Given the description of an element on the screen output the (x, y) to click on. 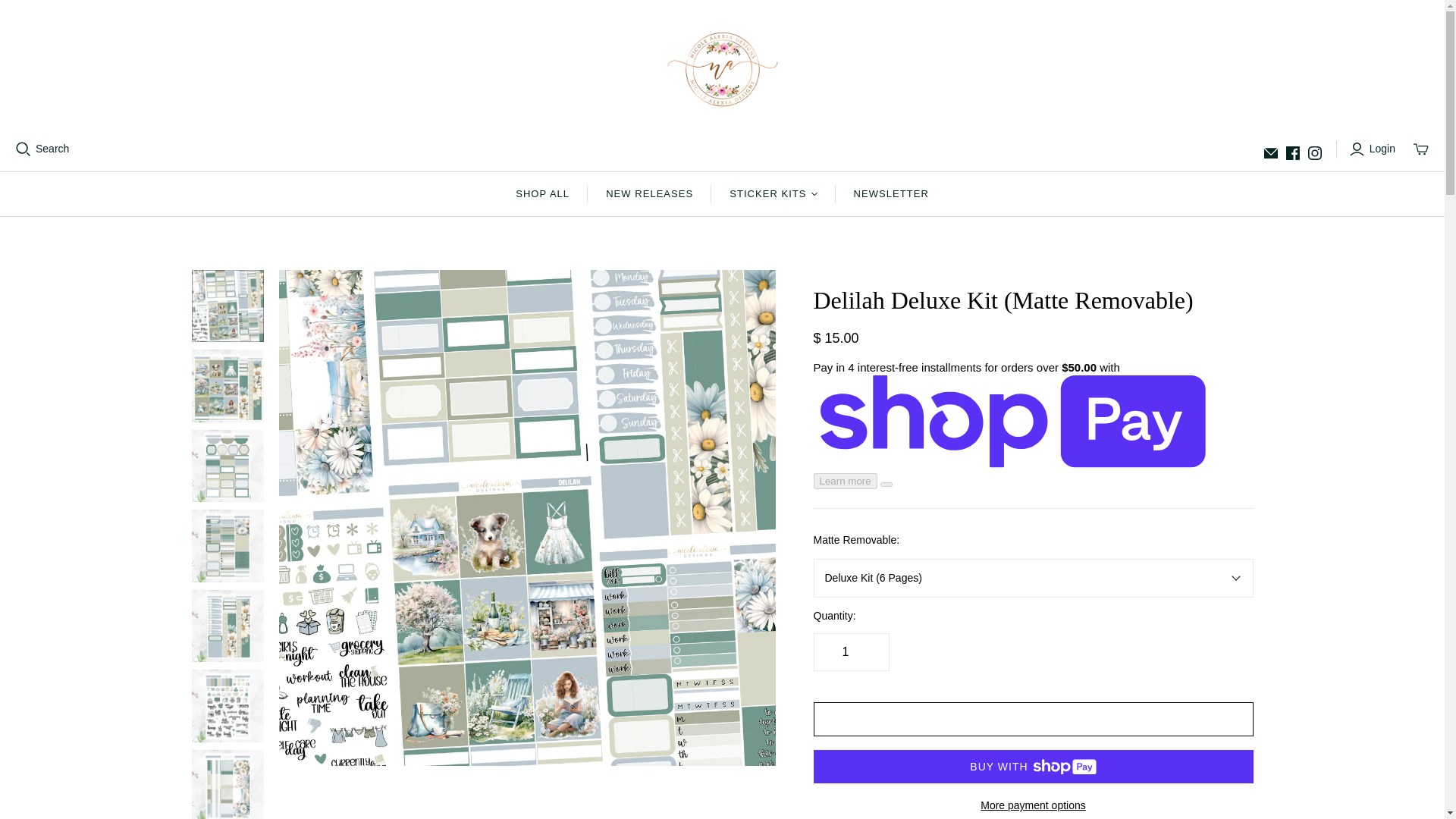
SHOP ALL (542, 193)
Login (1374, 148)
NEW RELEASES (649, 193)
NEWSLETTER (891, 193)
1 (850, 651)
